Given the description of an element on the screen output the (x, y) to click on. 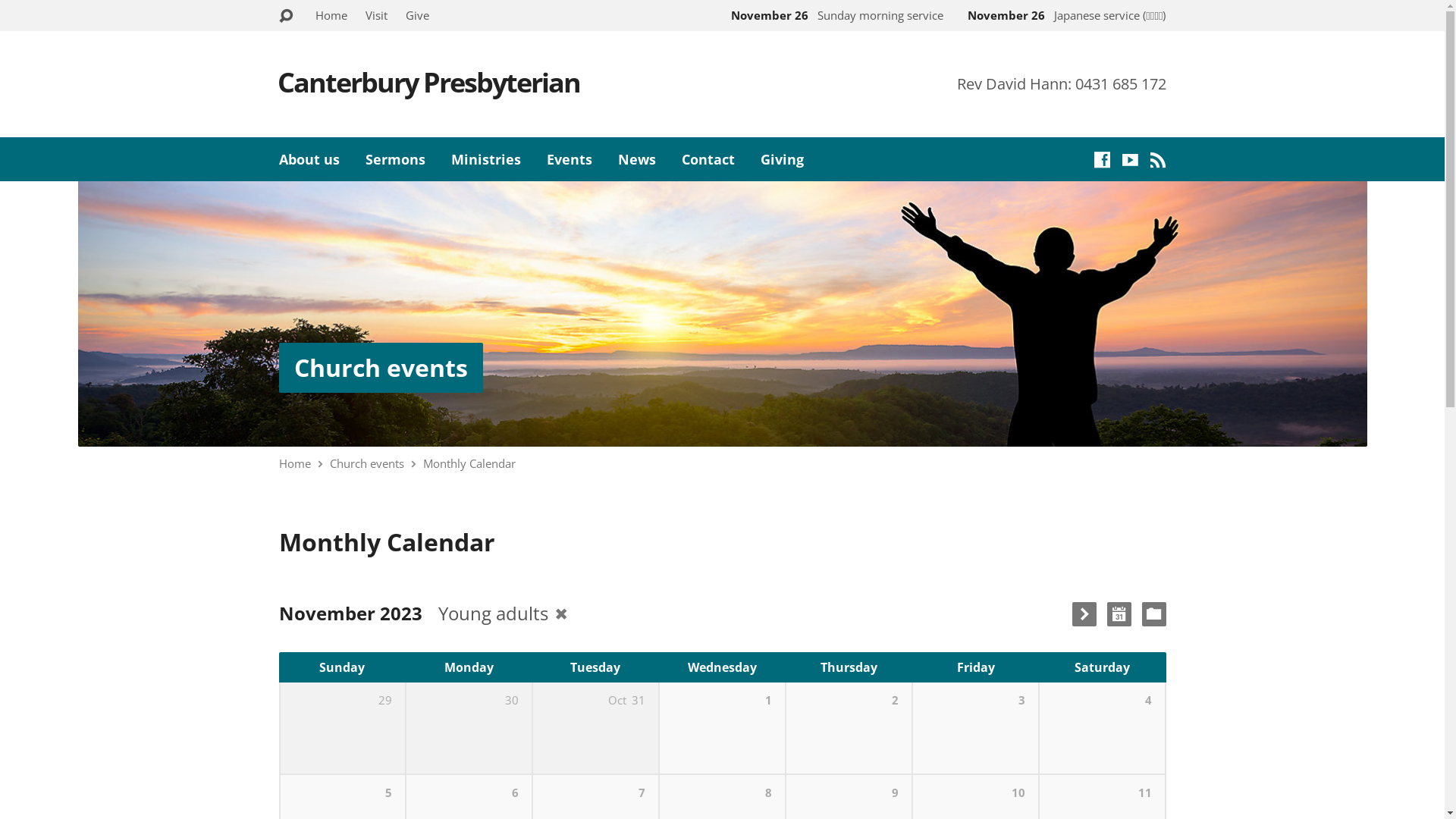
Giving Element type: text (781, 159)
Home Element type: text (294, 462)
Church events Element type: text (380, 367)
Sermons Element type: text (395, 159)
News Element type: text (636, 159)
Facebook Element type: hover (1101, 159)
Give Element type: text (416, 14)
November 26 Sunday morning service Element type: text (833, 14)
Monthly Calendar Element type: text (469, 462)
Ministries Element type: text (485, 159)
Church events Element type: text (366, 462)
YouTube Element type: hover (1130, 159)
Canterbury Presbyterian Element type: text (428, 81)
Home Element type: text (331, 14)
Visit Element type: text (376, 14)
Events Element type: text (568, 159)
RSS Element type: hover (1157, 159)
Remove Category Filter Element type: hover (560, 613)
Toggle Search Element type: hover (285, 15)
Contact Element type: text (707, 159)
About us Element type: text (309, 159)
Choose Month Element type: hover (1119, 614)
Choose Category Element type: hover (1154, 614)
